Given the description of an element on the screen output the (x, y) to click on. 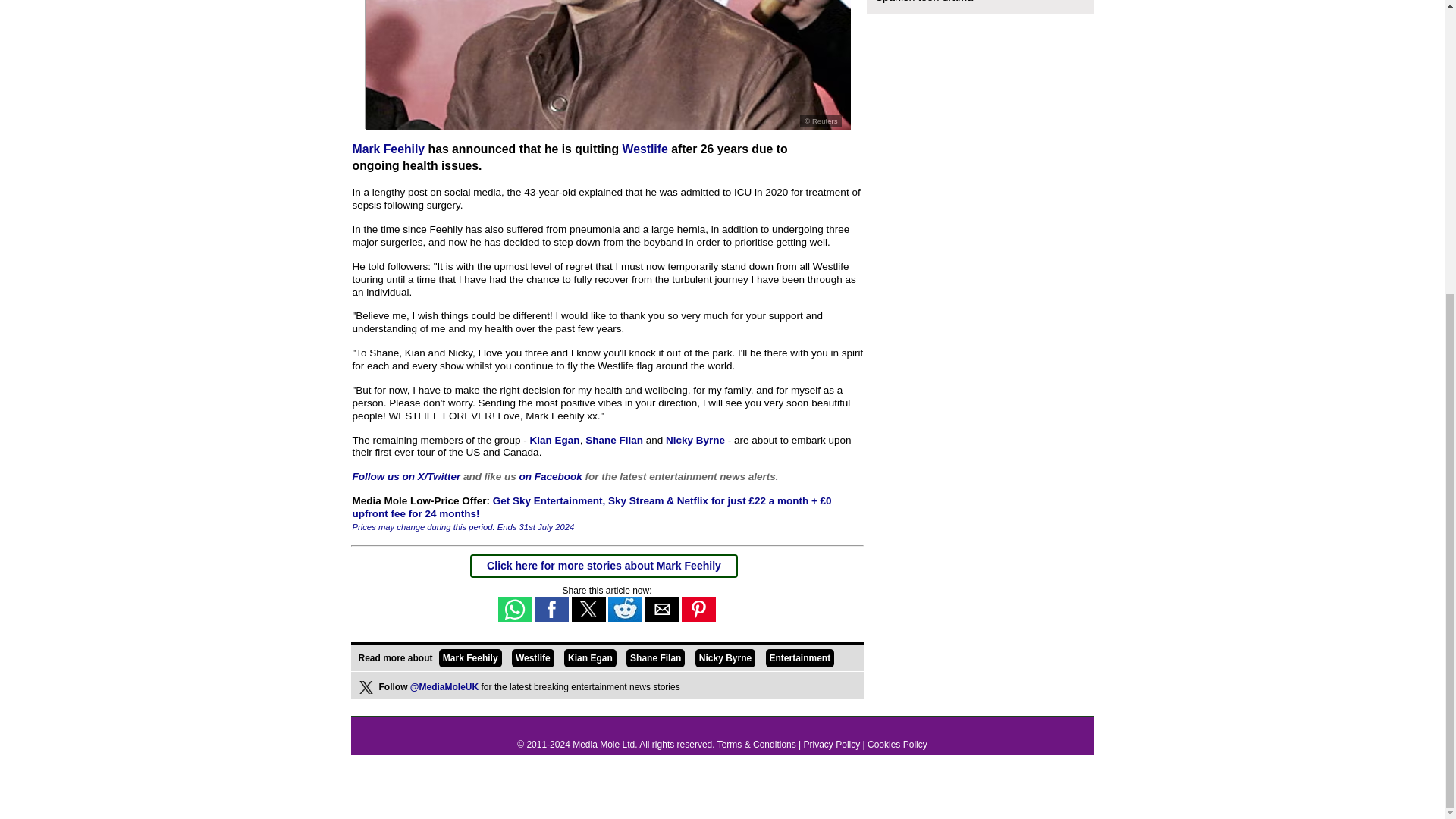
Shane Filan (655, 658)
Click here for more stories about Mark Feehily (603, 565)
Kian Egan (554, 439)
Kian Egan (589, 658)
Westlife (645, 148)
on Facebook (550, 476)
Mark Feehily (470, 658)
Mark Feehily (388, 148)
Shane Filan (614, 439)
Westlife (533, 658)
Prices may change during this period. Ends 31st July 2024 (462, 532)
Nicky Byrne (695, 439)
Nicky Byrne (725, 658)
